Given the description of an element on the screen output the (x, y) to click on. 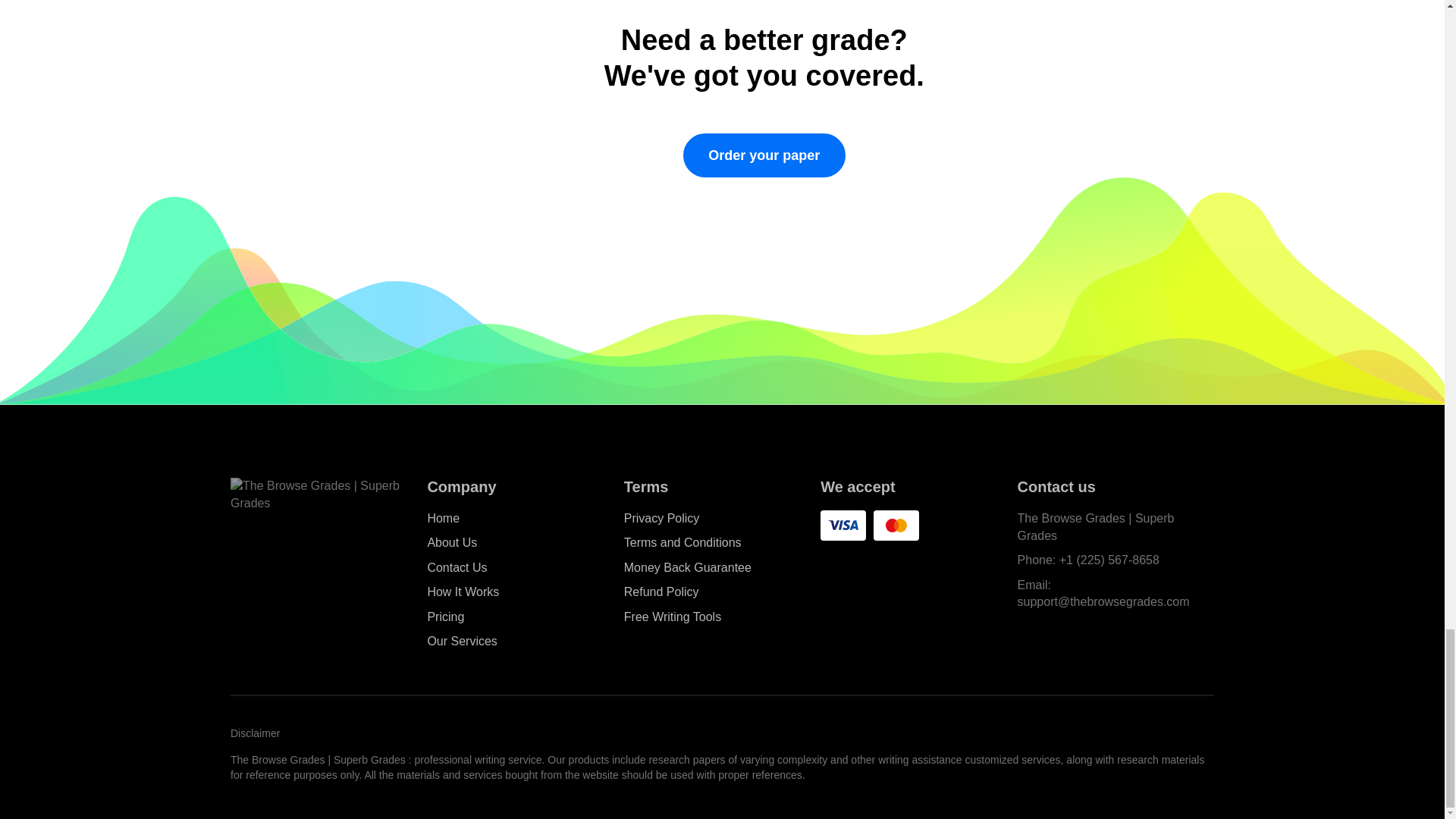
About Us (451, 543)
Terms and Conditions (682, 543)
Order your paper (763, 155)
Pricing (445, 617)
Our Services (461, 641)
Money Back Guarantee (687, 568)
Home (443, 518)
How It Works (462, 592)
Privacy Policy (662, 518)
Contact Us (456, 568)
